Given the description of an element on the screen output the (x, y) to click on. 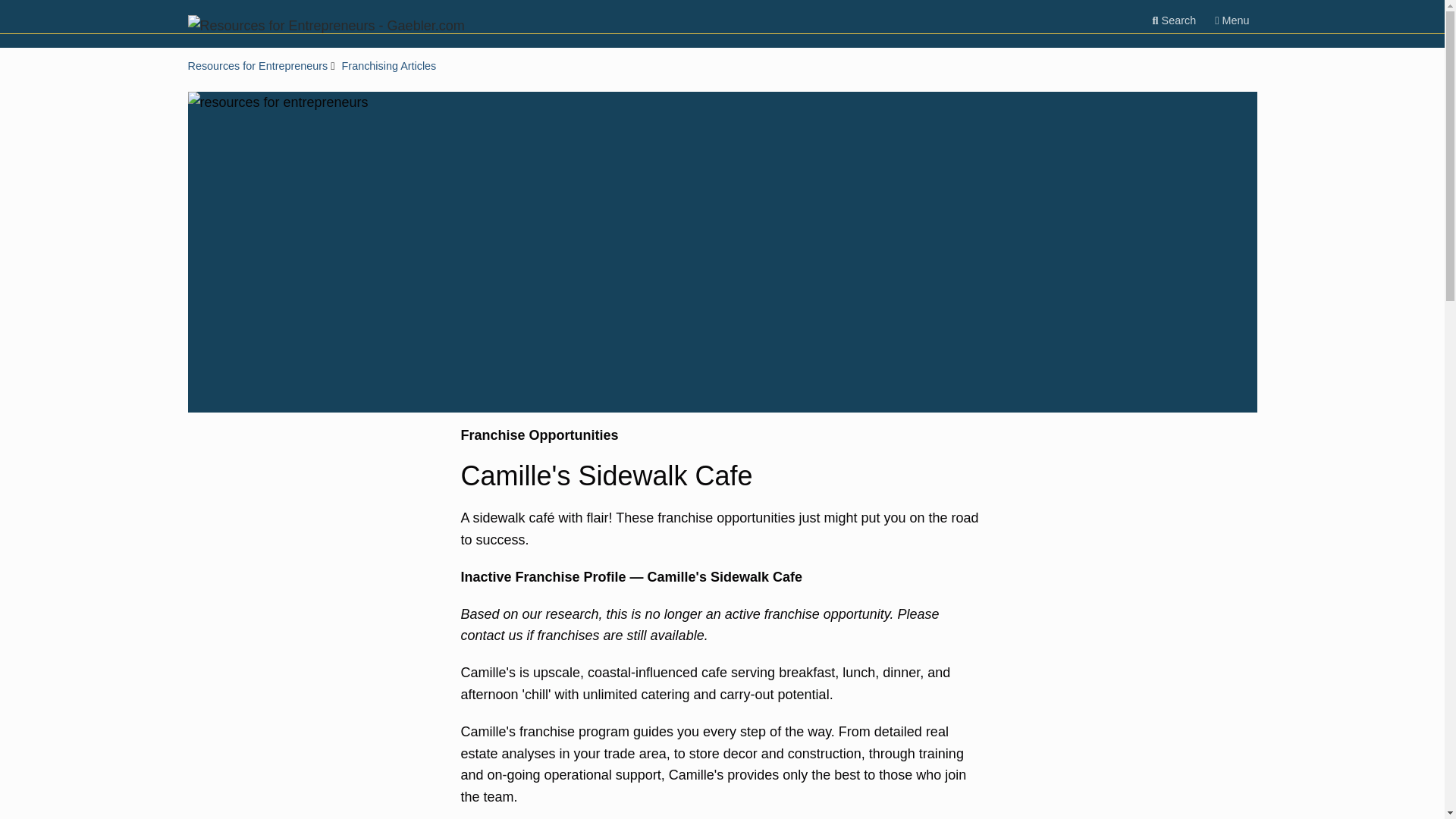
Menu (1231, 20)
Search (1174, 20)
